Given the description of an element on the screen output the (x, y) to click on. 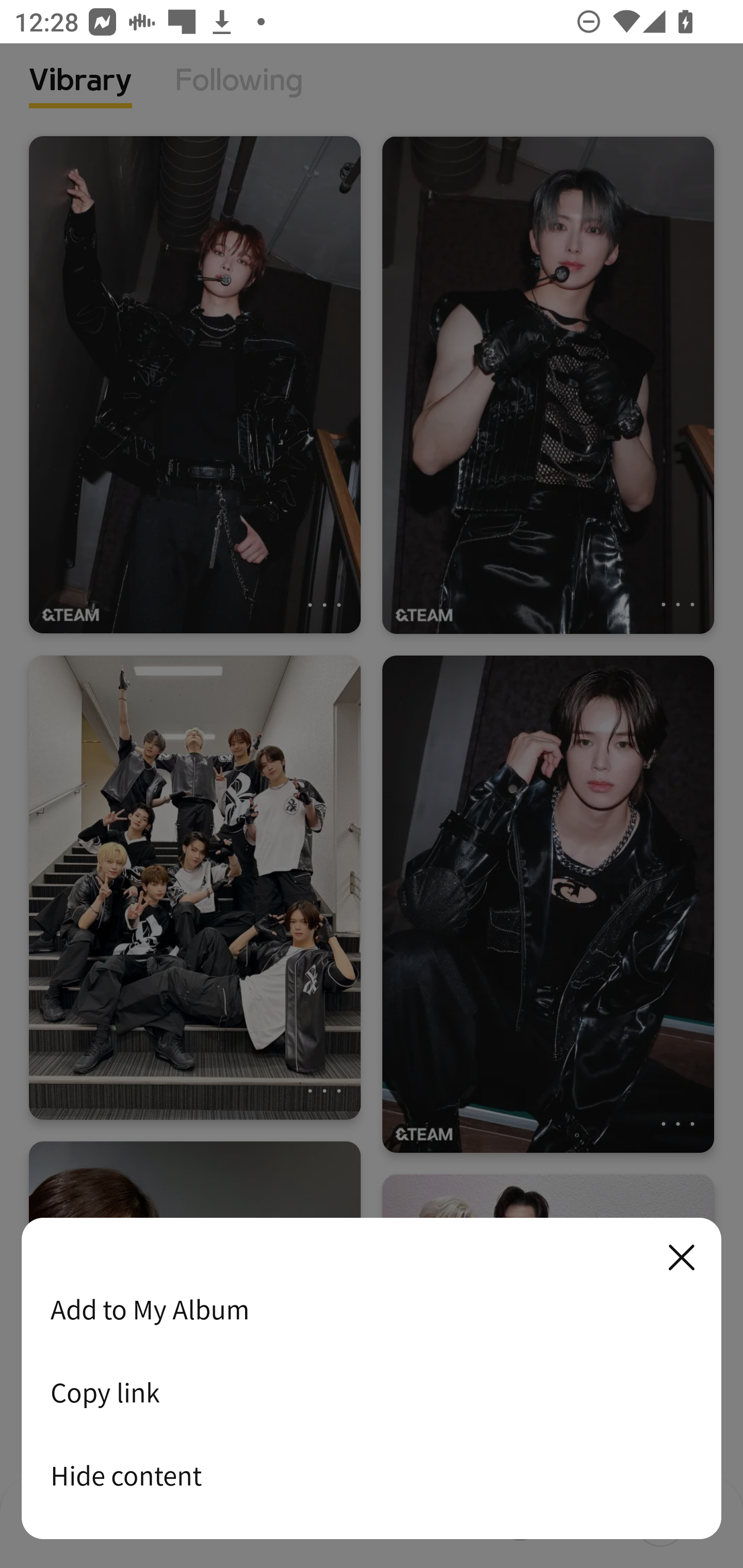
Add to My Album Copy link Hide content (371, 1378)
Add to My Album (371, 1308)
Copy link (371, 1391)
Hide content (371, 1474)
